Given the description of an element on the screen output the (x, y) to click on. 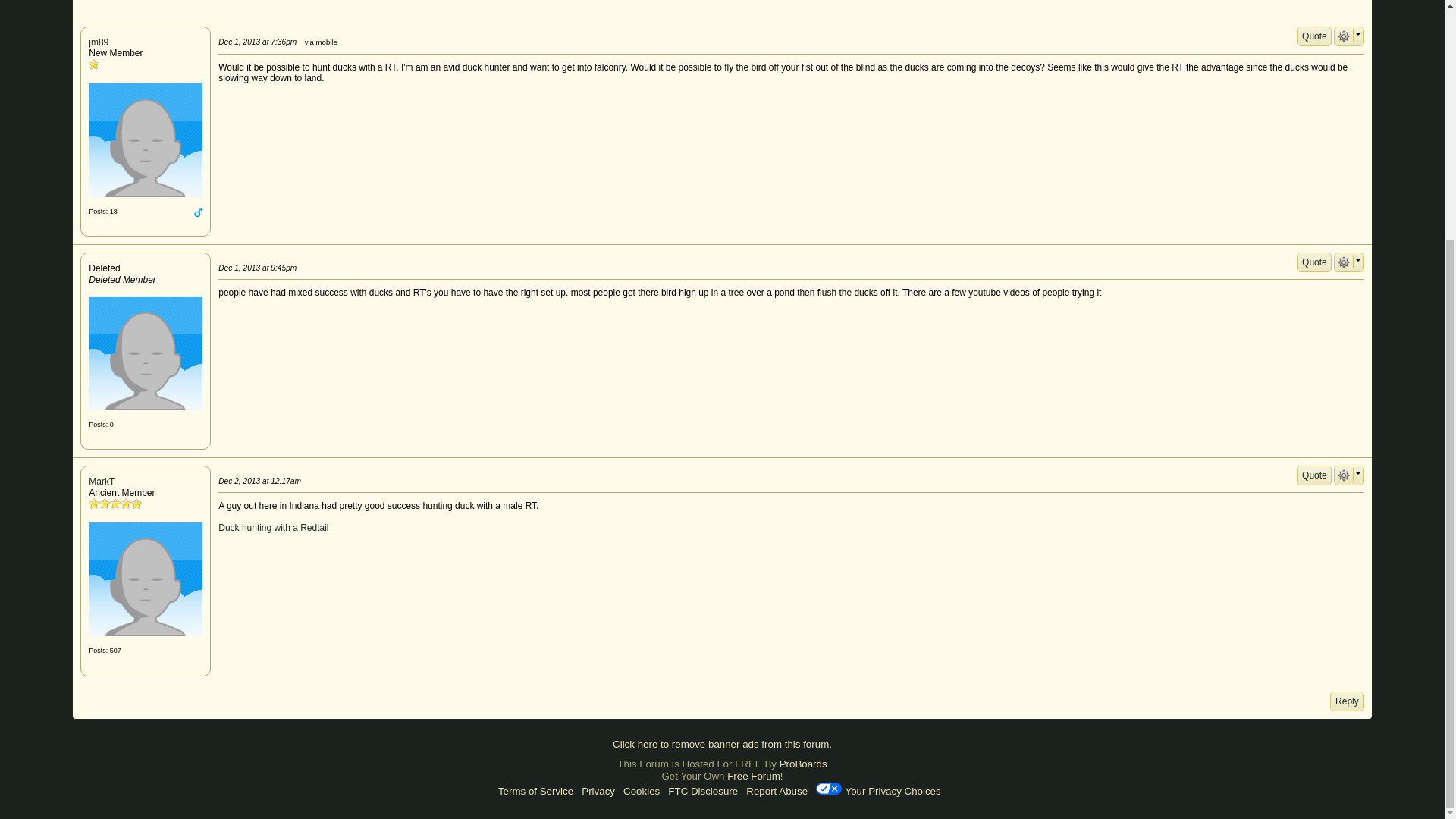
Post Options (1343, 262)
Post Options (1343, 36)
Deleted (145, 353)
Male (197, 212)
MarkT (145, 579)
Post Options (1343, 475)
jm89 (145, 140)
